Given the description of an element on the screen output the (x, y) to click on. 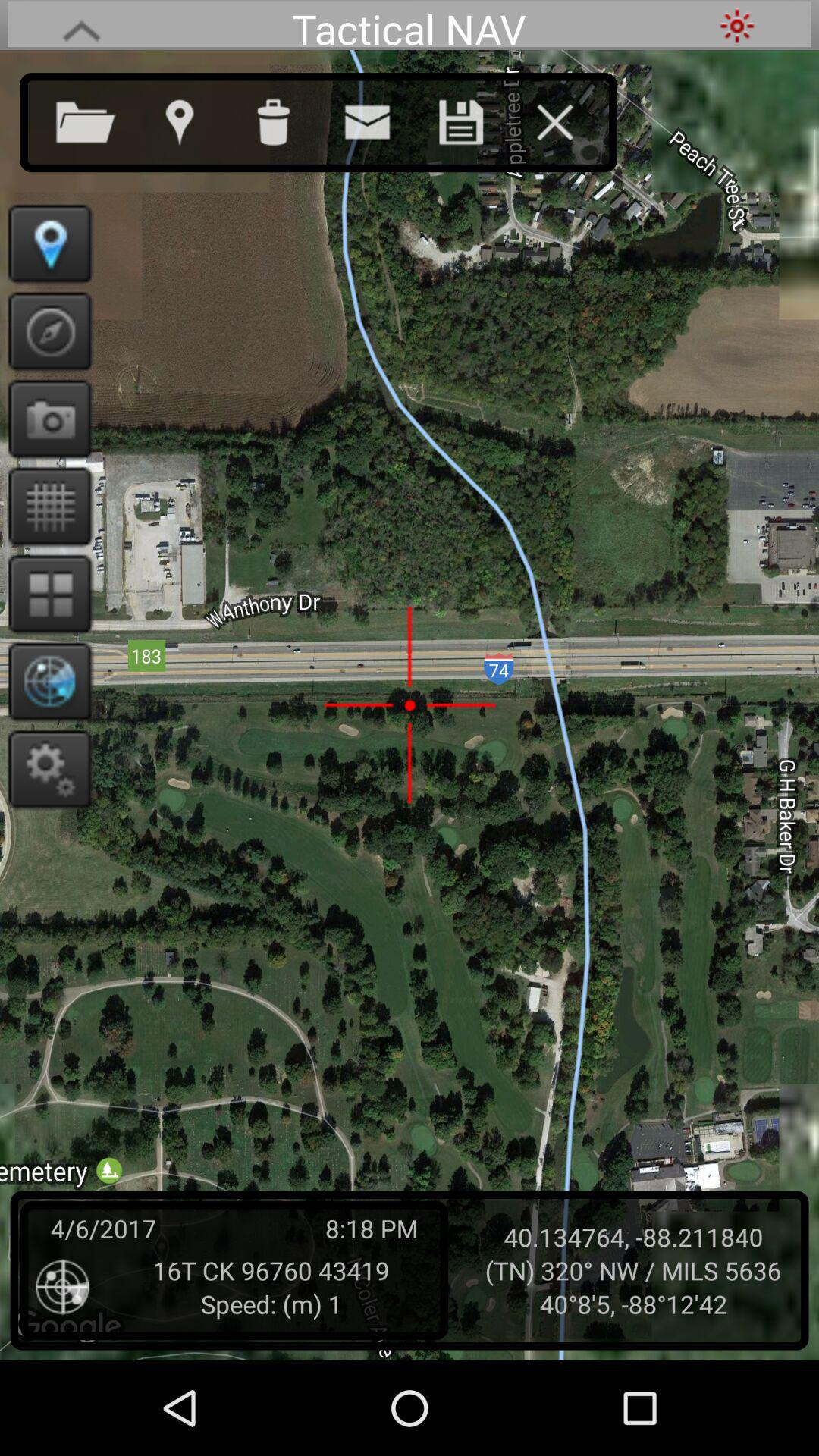
file browser (100, 119)
